Given the description of an element on the screen output the (x, y) to click on. 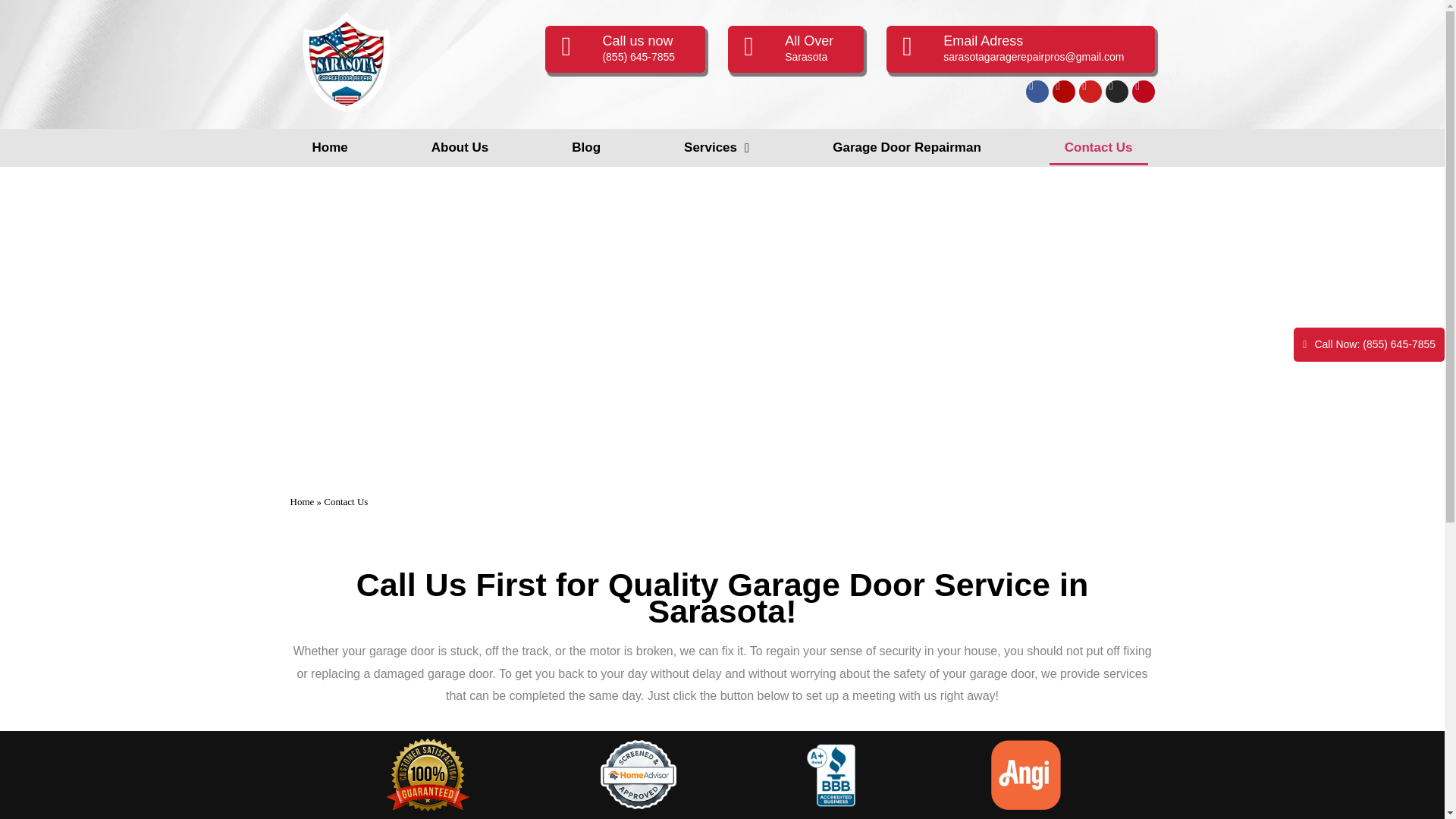
Email Adress (983, 40)
About Us (459, 147)
Contact Us (1098, 147)
Home (301, 501)
Services (716, 147)
Garage Door Repairman (905, 147)
Call us now (637, 40)
Blog (585, 147)
Home (329, 147)
